Given the description of an element on the screen output the (x, y) to click on. 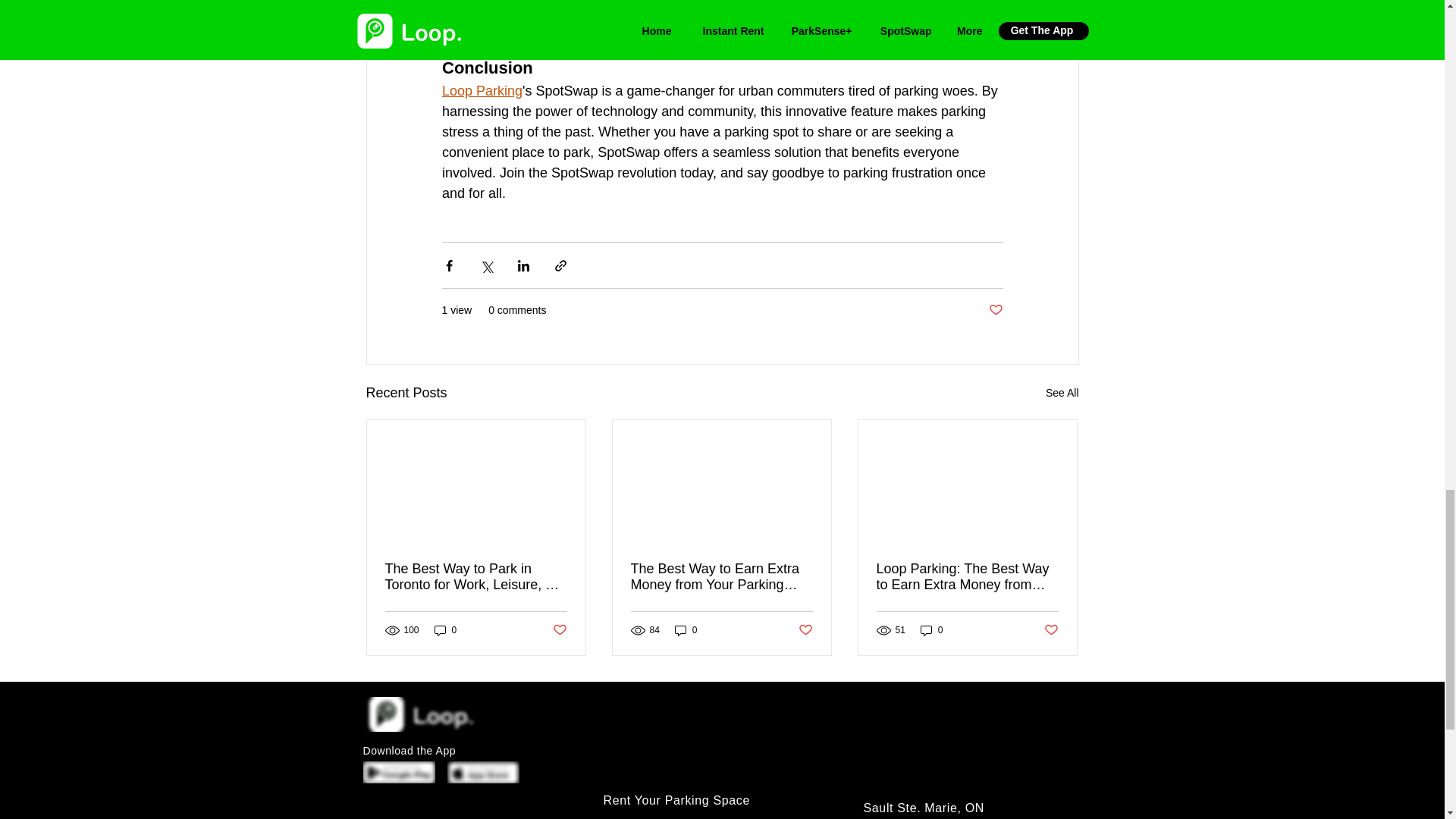
0 (931, 630)
Post not marked as liked (1050, 630)
Post not marked as liked (804, 630)
Loop Parking (481, 90)
Post not marked as liked (995, 310)
Post not marked as liked (558, 630)
Download the App (408, 750)
0 (445, 630)
The Best Way to Earn Extra Money from Your Parking Spot (721, 576)
See All (1061, 393)
0 (685, 630)
